Given the description of an element on the screen output the (x, y) to click on. 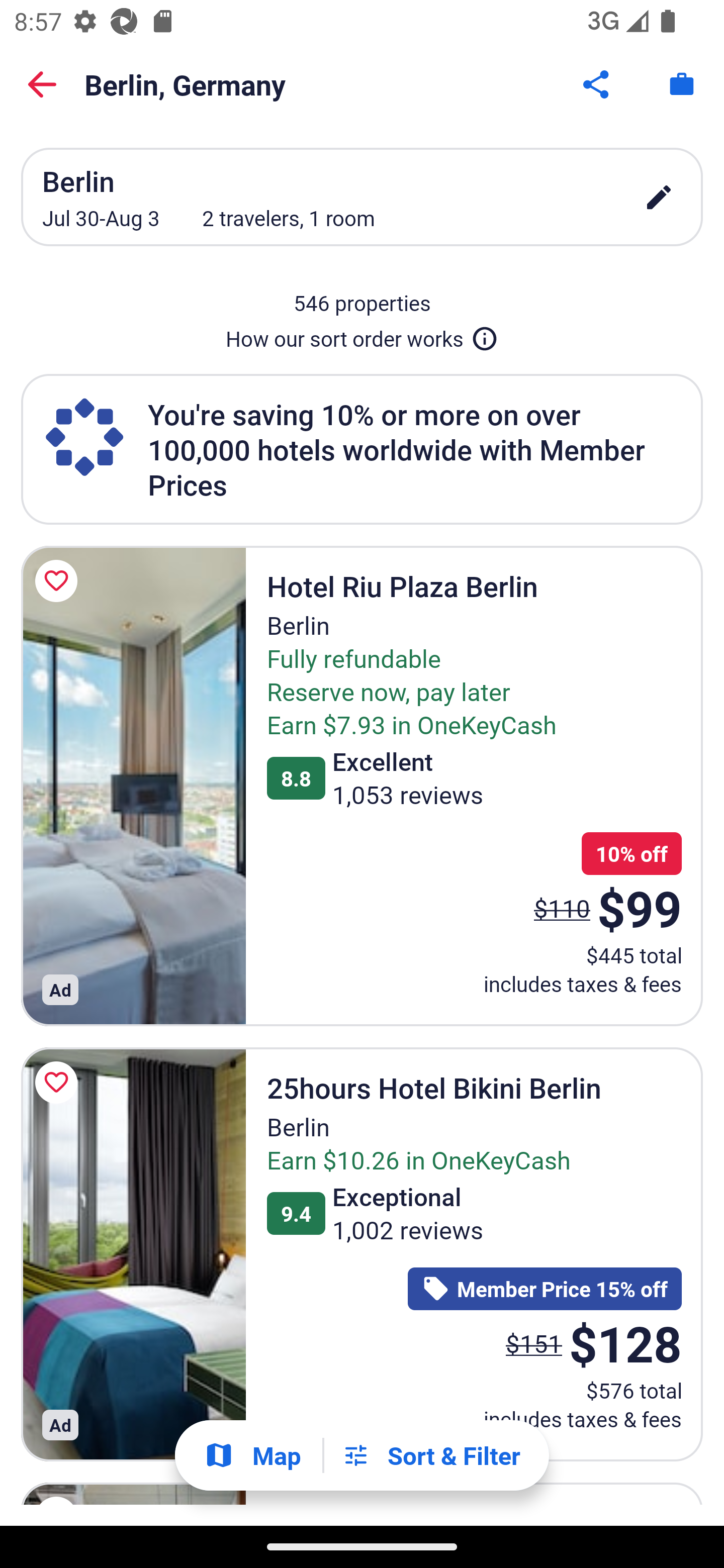
Back (42, 84)
Share Button (597, 84)
Trips. Button (681, 84)
Berlin Jul 30-Aug 3 2 travelers, 1 room edit (361, 196)
How our sort order works (361, 334)
Save Hotel Riu Plaza Berlin to a trip (59, 580)
Hotel Riu Plaza Berlin (133, 785)
$110 The price was $110 (561, 907)
Save 25hours Hotel Bikini Berlin to a trip (59, 1081)
25hours Hotel Bikini Berlin (133, 1254)
$151 The price was $151 (533, 1343)
Filters Sort & Filter Filters Button (430, 1455)
Show map Map Show map Button (252, 1455)
